Given the description of an element on the screen output the (x, y) to click on. 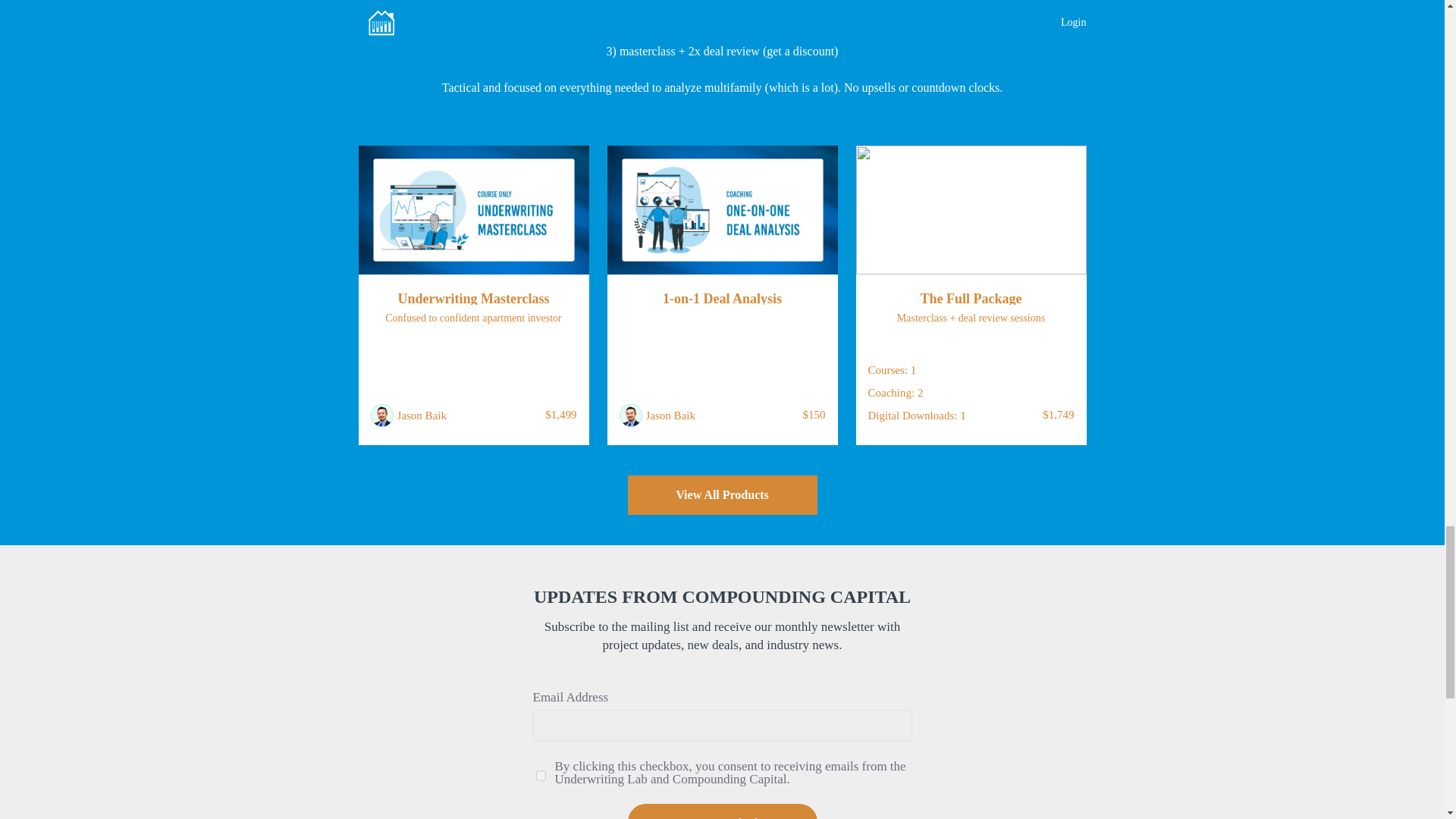
1-on-1 Deal Analysis (721, 298)
Request an invite (721, 811)
Underwriting Masterclass (472, 298)
Confused to confident apartment investor (472, 318)
Jason Baik (421, 415)
The Full Package (970, 298)
View All Products (721, 496)
View All Products (721, 495)
Jason Baik (670, 415)
